Given the description of an element on the screen output the (x, y) to click on. 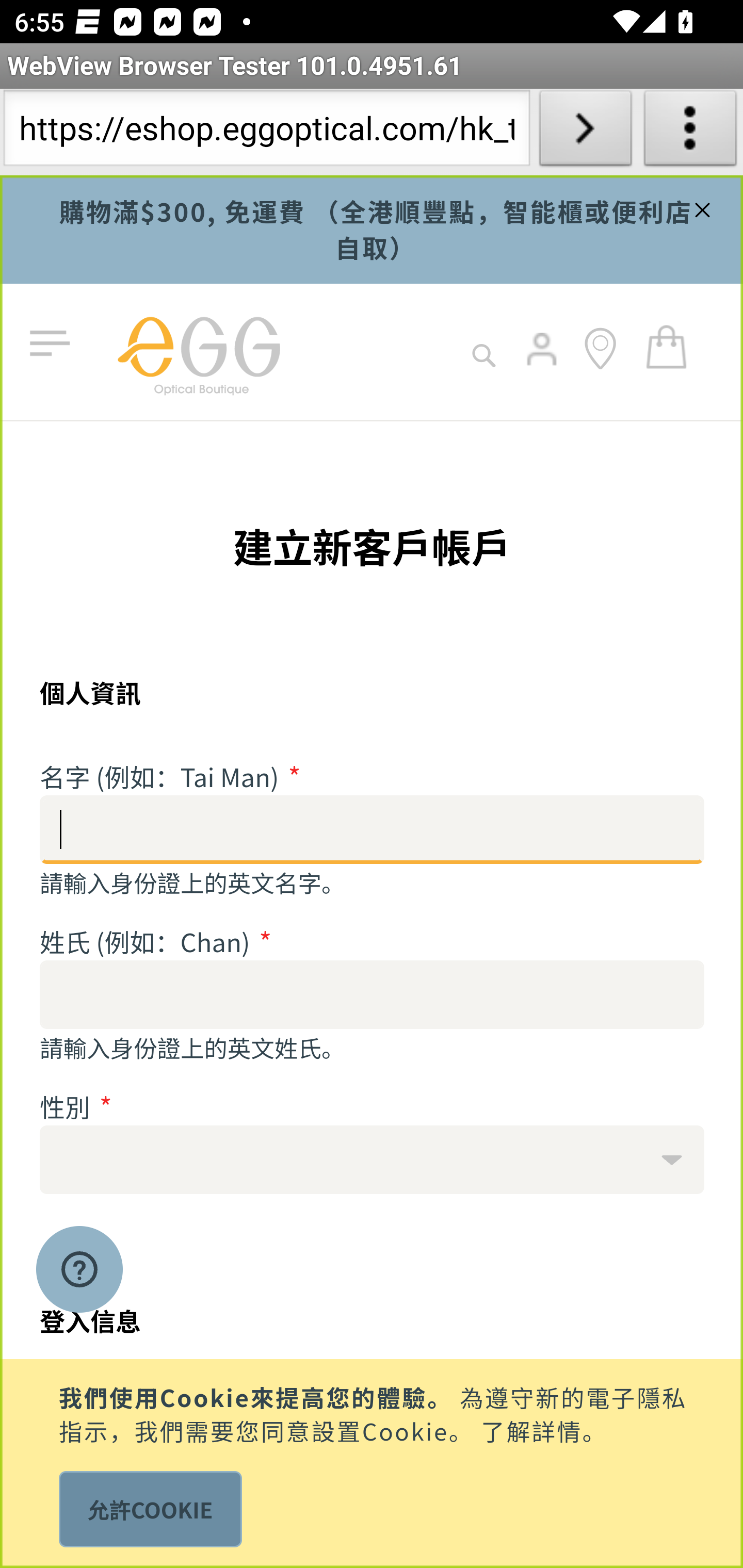
Load URL (585, 132)
About WebView (690, 132)
 (699, 206)
store logo eGG 網上商店 (198, 351)
切換導航 (54, 343)
我的購物車 (666, 345)
login (543, 362)
性別* (372, 1159)
Opens a widget where you can find more information (79, 1270)
了解詳情 (531, 1429)
允許COOKIE (149, 1509)
